Given the description of an element on the screen output the (x, y) to click on. 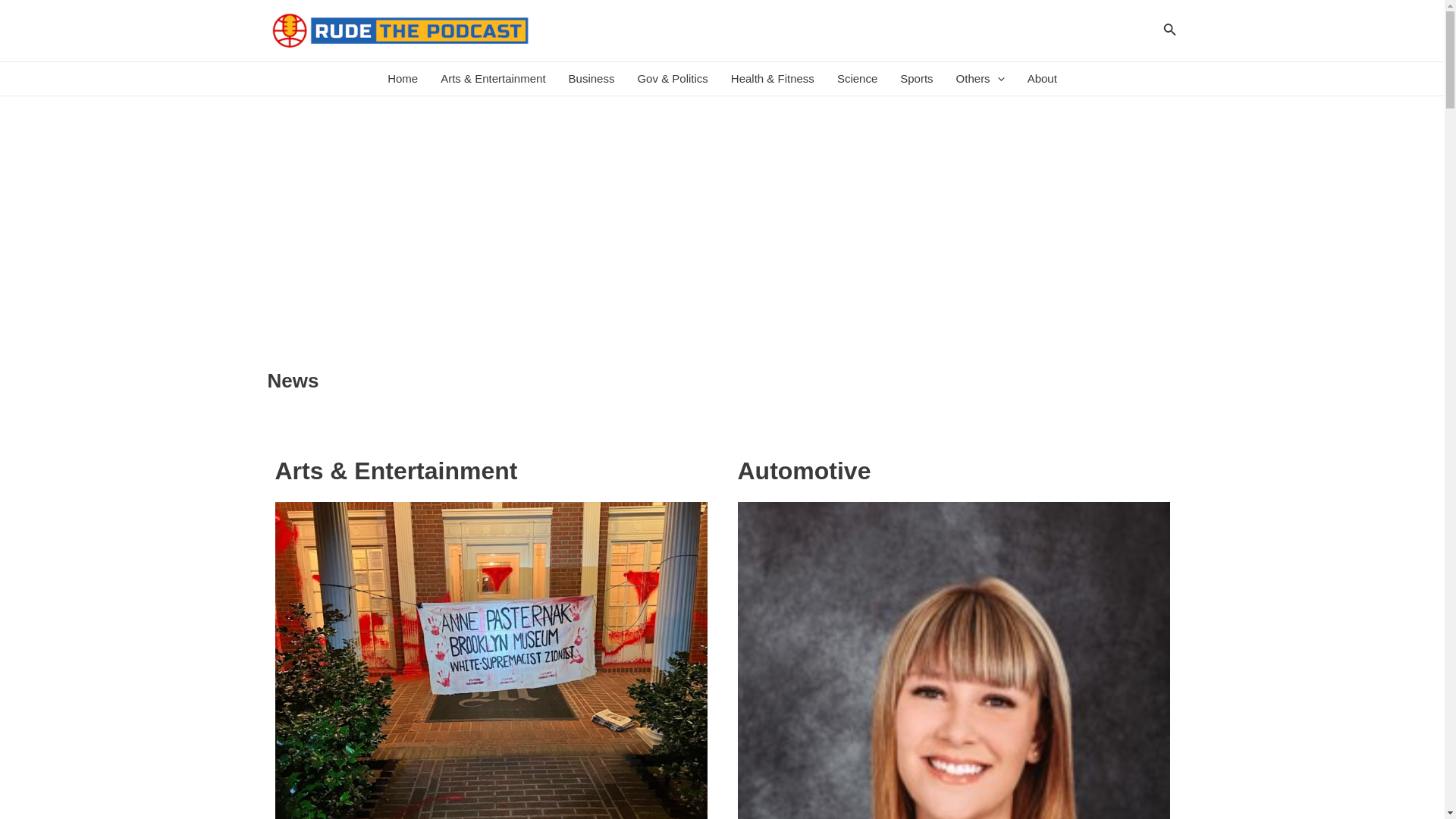
Sports (915, 78)
About (1042, 78)
Home (402, 78)
Business (591, 78)
Others (980, 78)
Science (856, 78)
